Given the description of an element on the screen output the (x, y) to click on. 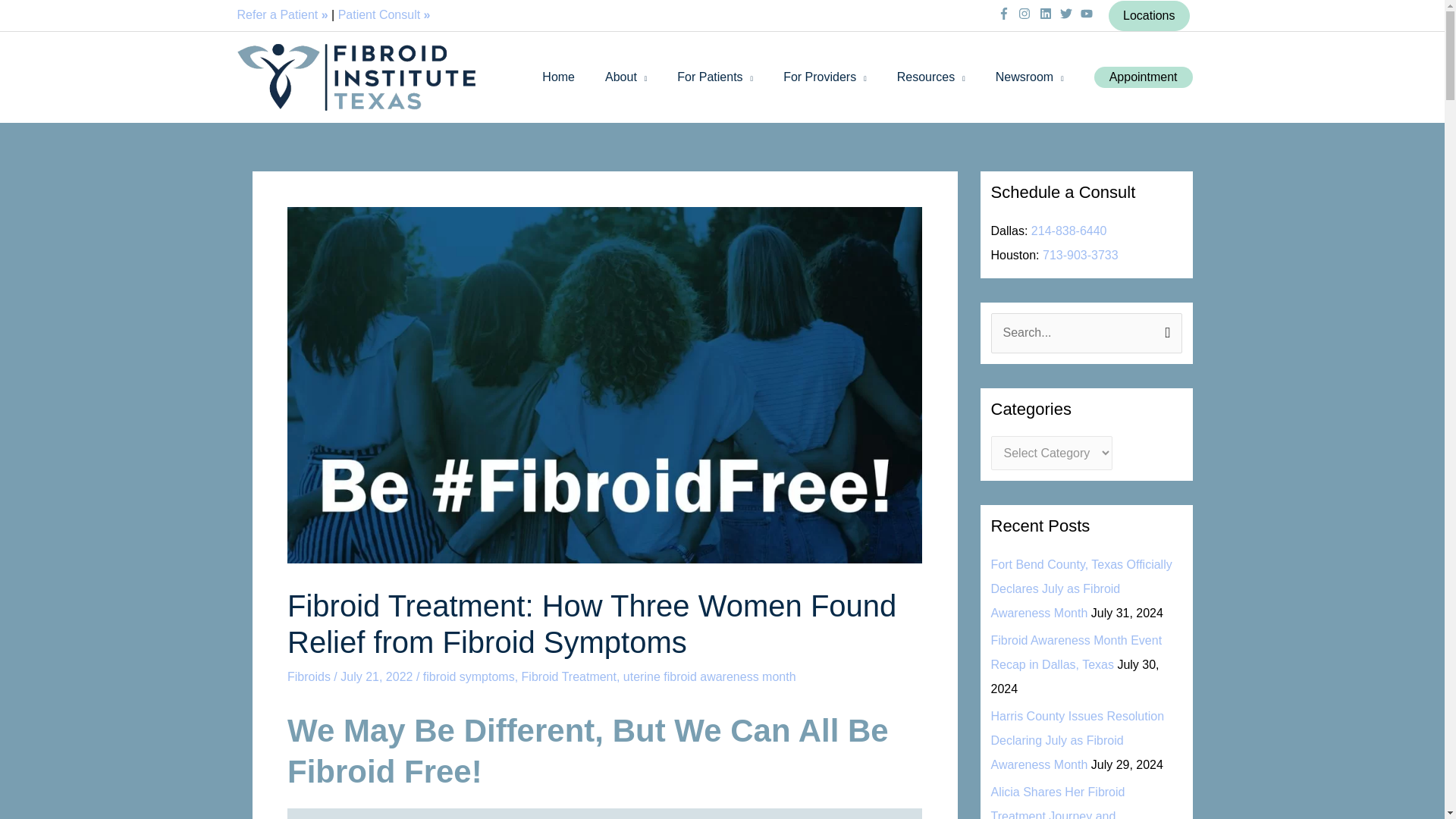
For Patients (715, 77)
About (625, 77)
Search (1165, 333)
Table of Contents (603, 813)
Locations (1148, 15)
Locations (1148, 15)
Home (558, 77)
